Given the description of an element on the screen output the (x, y) to click on. 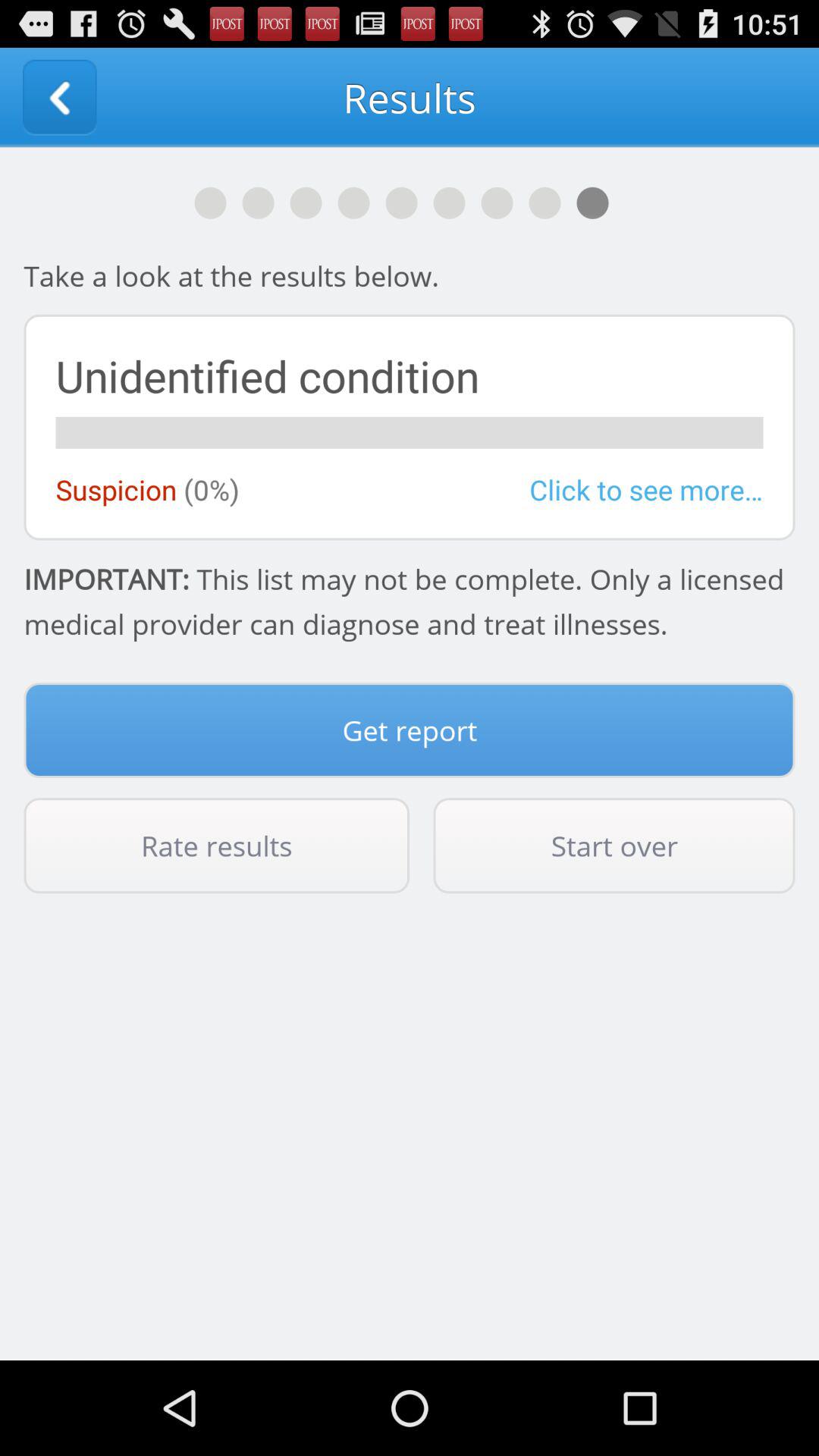
go to back (59, 97)
